Given the description of an element on the screen output the (x, y) to click on. 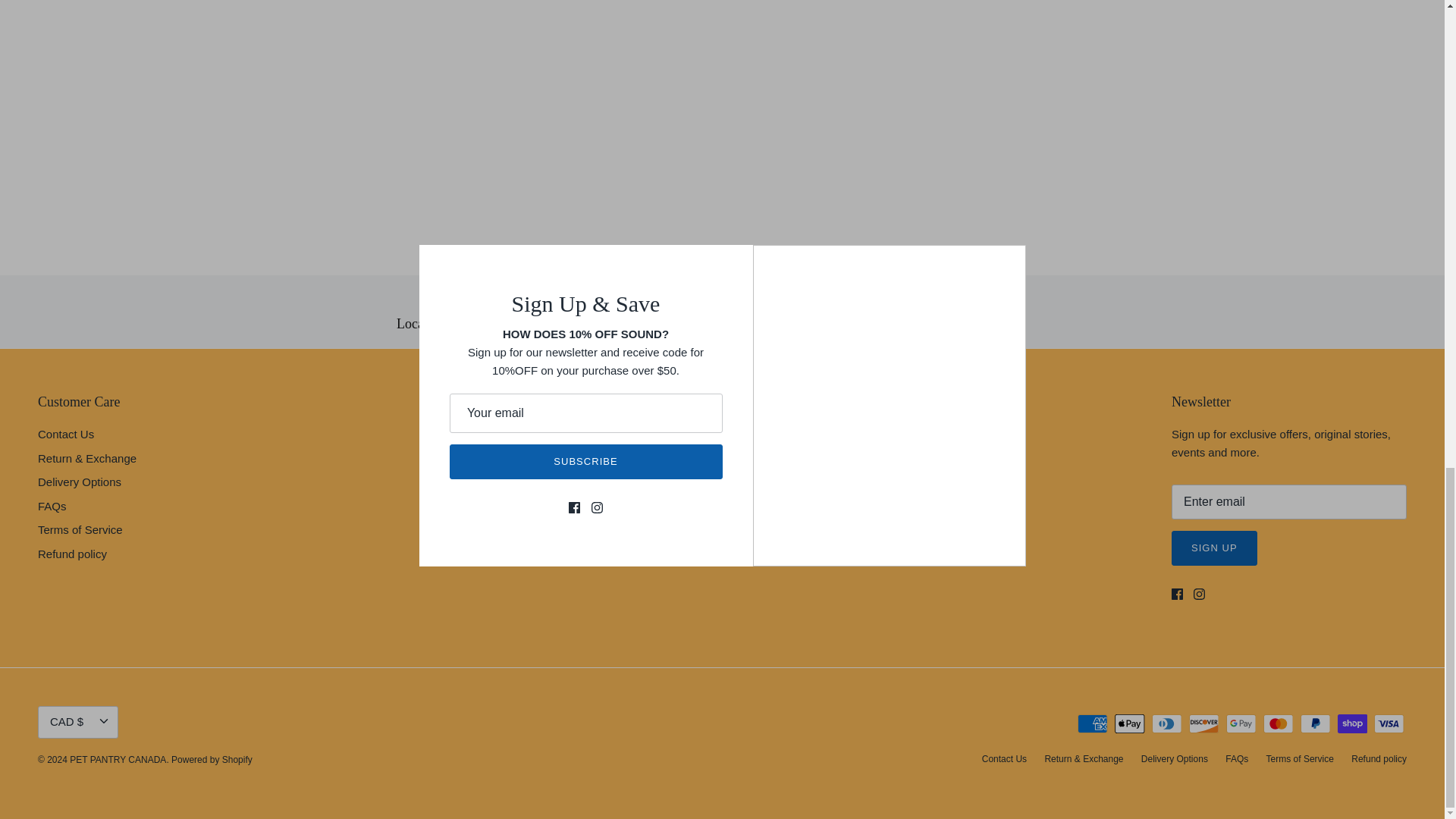
Facebook (1177, 593)
Instagram (1199, 593)
Apple Pay (1129, 723)
American Express (1092, 723)
Diners Club (1166, 723)
